Given the description of an element on the screen output the (x, y) to click on. 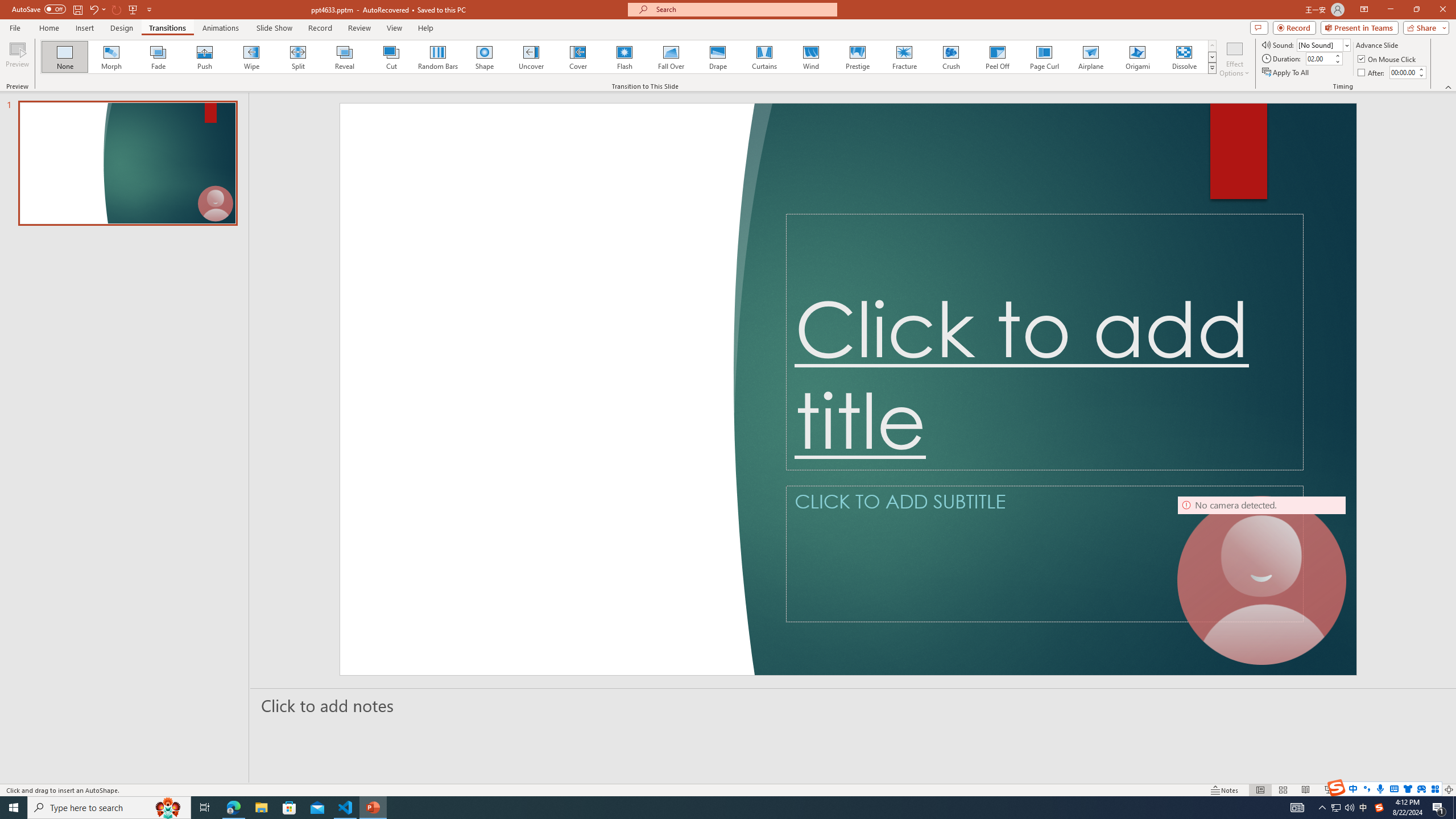
Origami (1136, 56)
Morph (111, 56)
Zoom 140% (1430, 790)
Fall Over (670, 56)
Fracture (903, 56)
Duration (1319, 58)
